Given the description of an element on the screen output the (x, y) to click on. 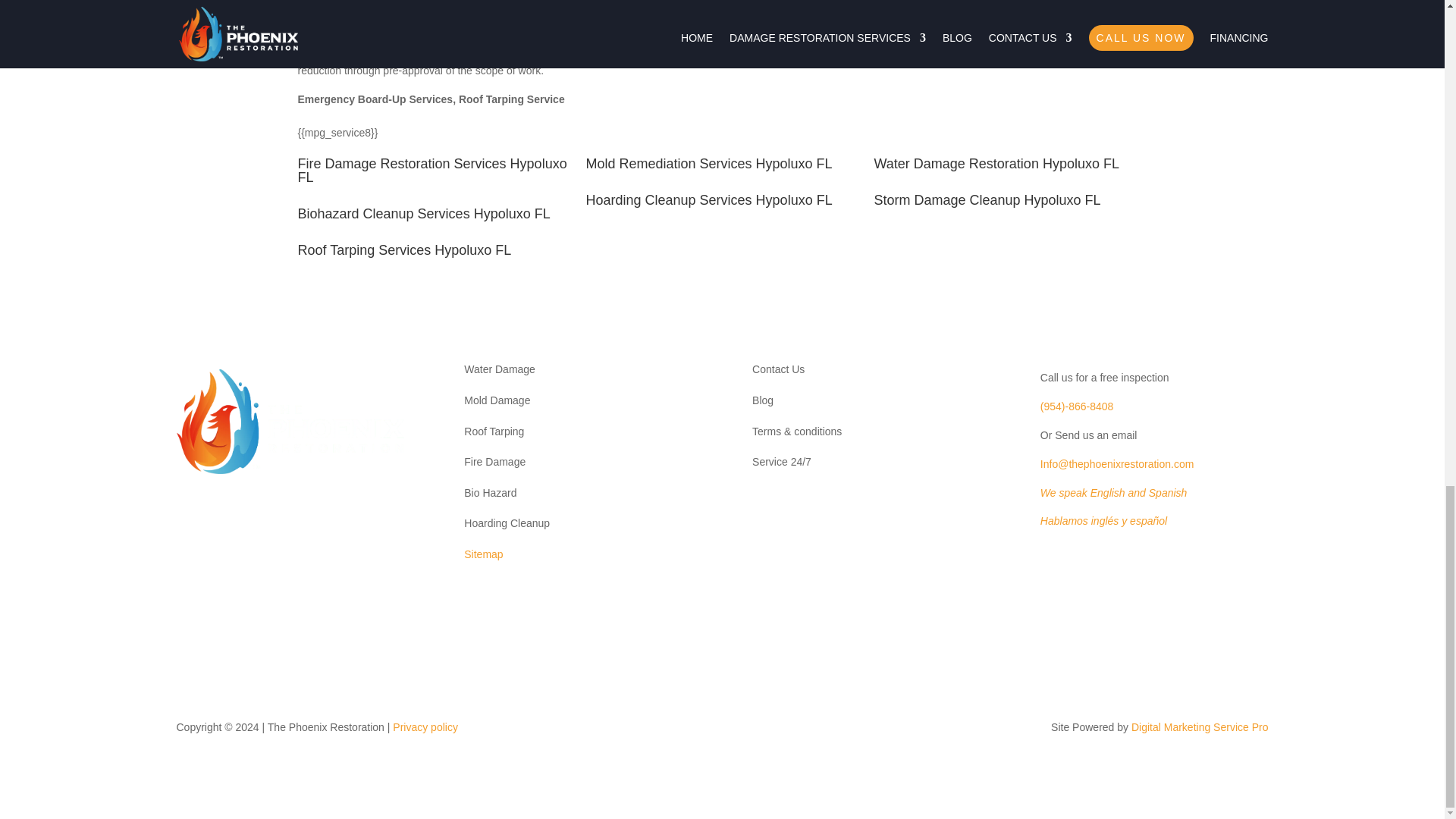
Water Damage Restoration Hypoluxo FL (995, 163)
Biohazard Cleanup Services Hypoluxo FL (423, 213)
Storm Damage Cleanup Hypoluxo FL (986, 200)
Sitemap (483, 553)
Mold Remediation Services Hypoluxo FL (708, 163)
Hoarding Cleanup Services Hypoluxo FL (708, 200)
Fire Damage Restoration Services Hypoluxo FL (431, 170)
Roof Tarping Services Hypoluxo FL (404, 249)
Follow on Instagram (188, 516)
